Given the description of an element on the screen output the (x, y) to click on. 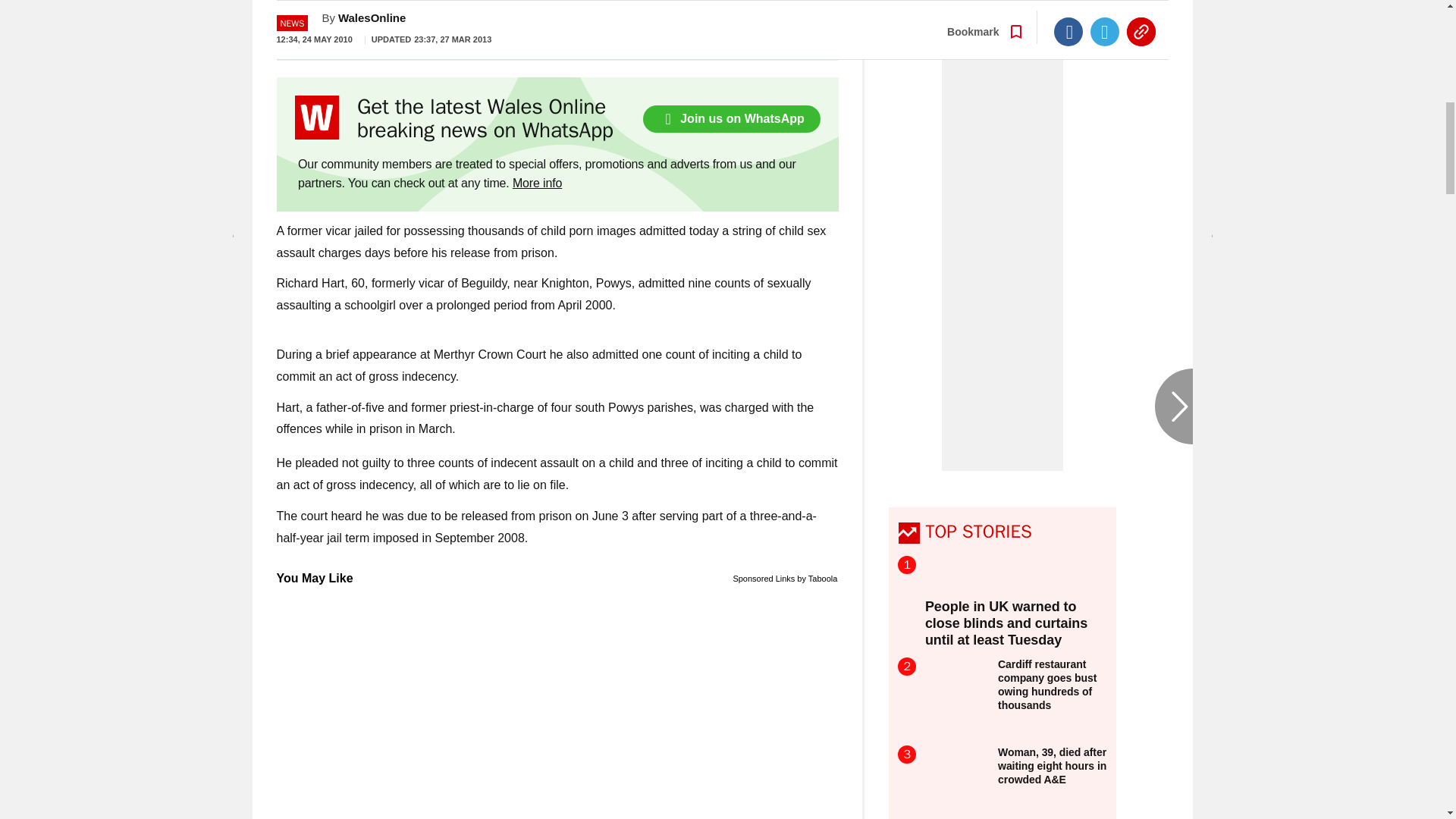
Go (730, 34)
Shooter Action MMO (557, 704)
